Given the description of an element on the screen output the (x, y) to click on. 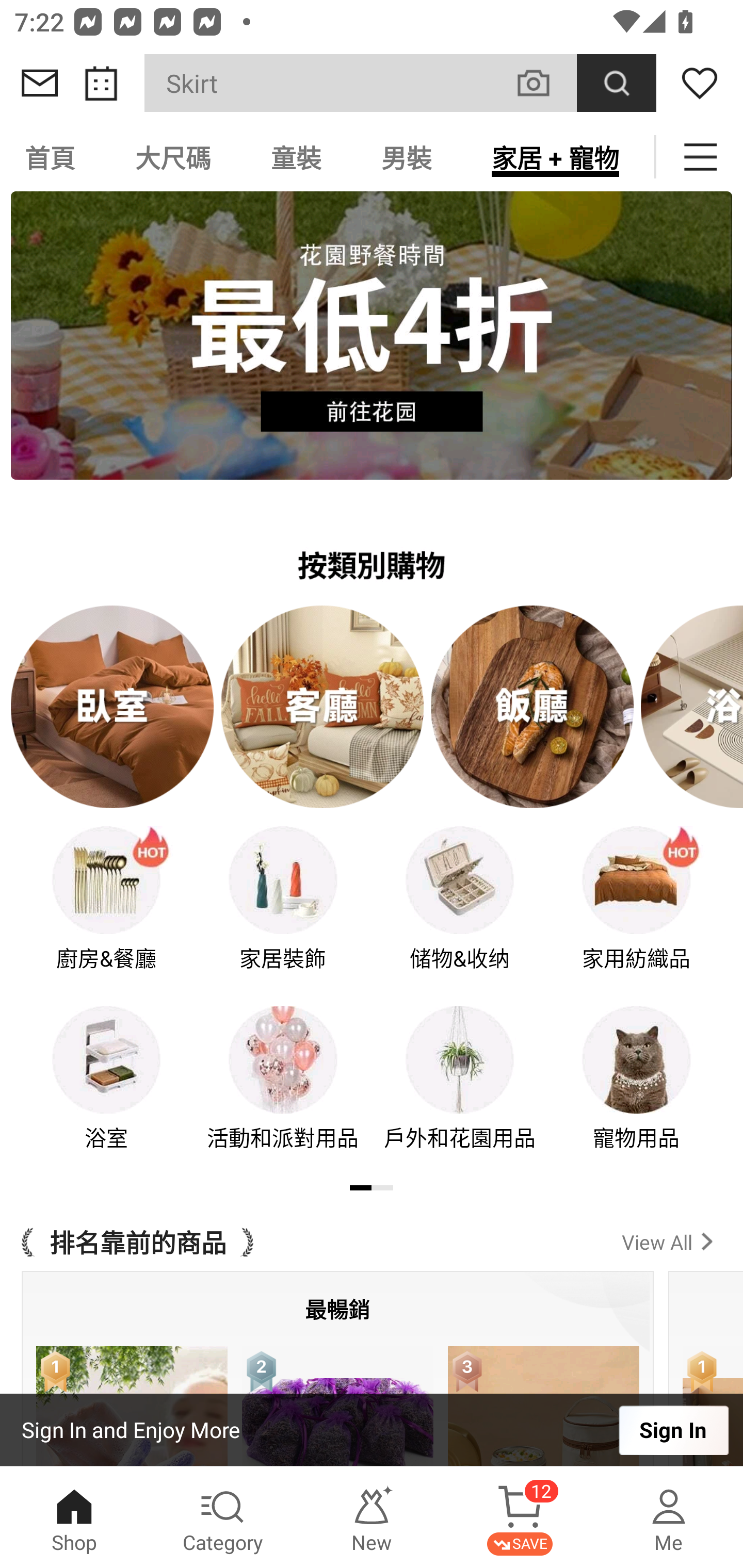
Wishlist (699, 82)
VISUAL SEARCH (543, 82)
首頁 (52, 156)
大尺碼 (172, 156)
童裝 (295, 156)
男裝 (406, 156)
家居 + 寵物 (555, 156)
廚房&餐廳 (105, 912)
家居裝飾 (282, 912)
储物&收纳 (459, 912)
家用紡織品 (636, 912)
浴室 (105, 1091)
活動和派對用品 (282, 1091)
戶外和花園用品 (459, 1091)
寵物用品 (636, 1091)
Sign In and Enjoy More Sign In (371, 1429)
Category (222, 1517)
New (371, 1517)
Cart 12 SAVE (519, 1517)
Me (668, 1517)
